Given the description of an element on the screen output the (x, y) to click on. 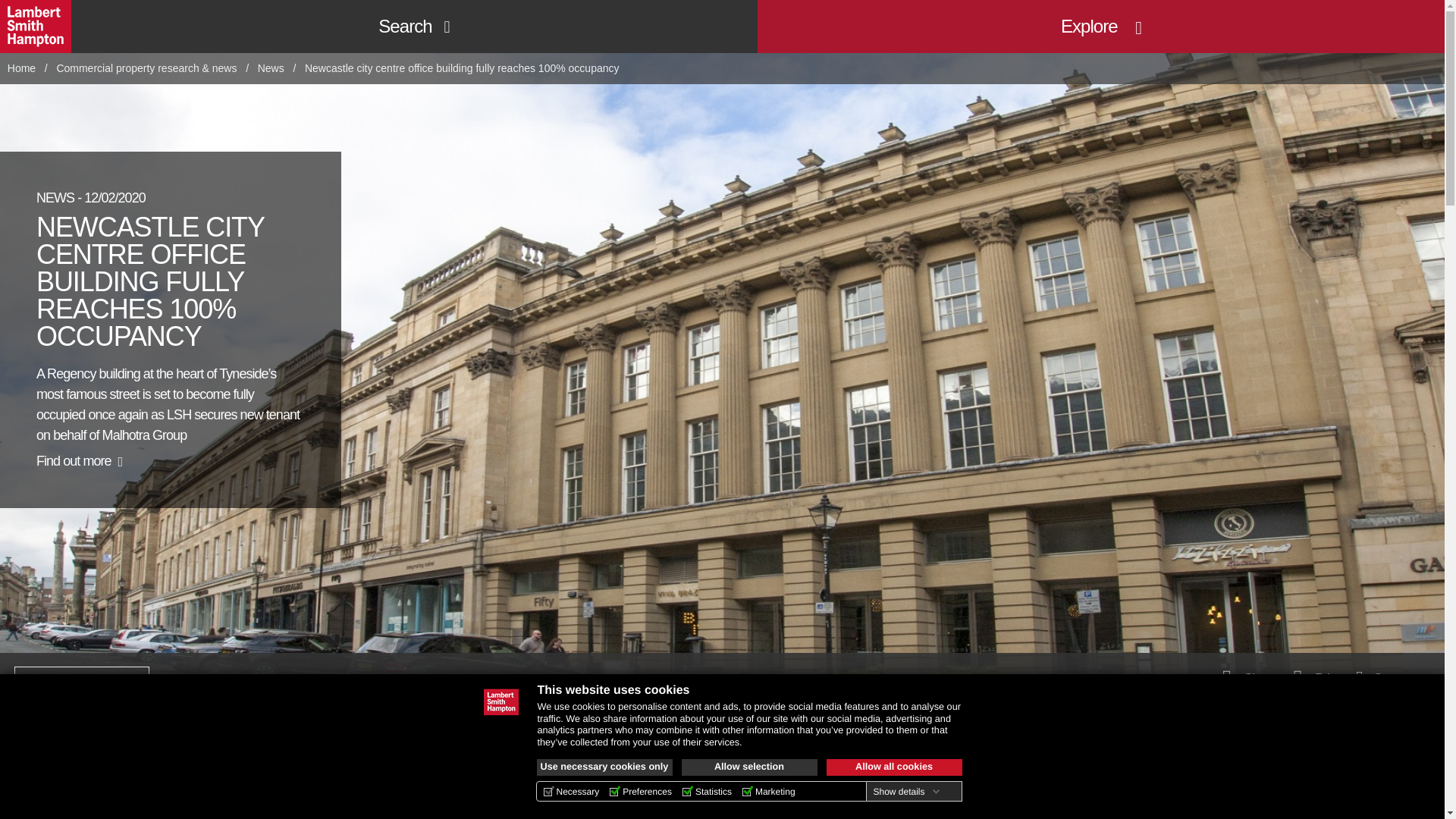
Allow all cookies (894, 767)
Use necessary cookies only (604, 767)
Show details (905, 791)
Find out more (79, 460)
Allow selection (748, 767)
